Given the description of an element on the screen output the (x, y) to click on. 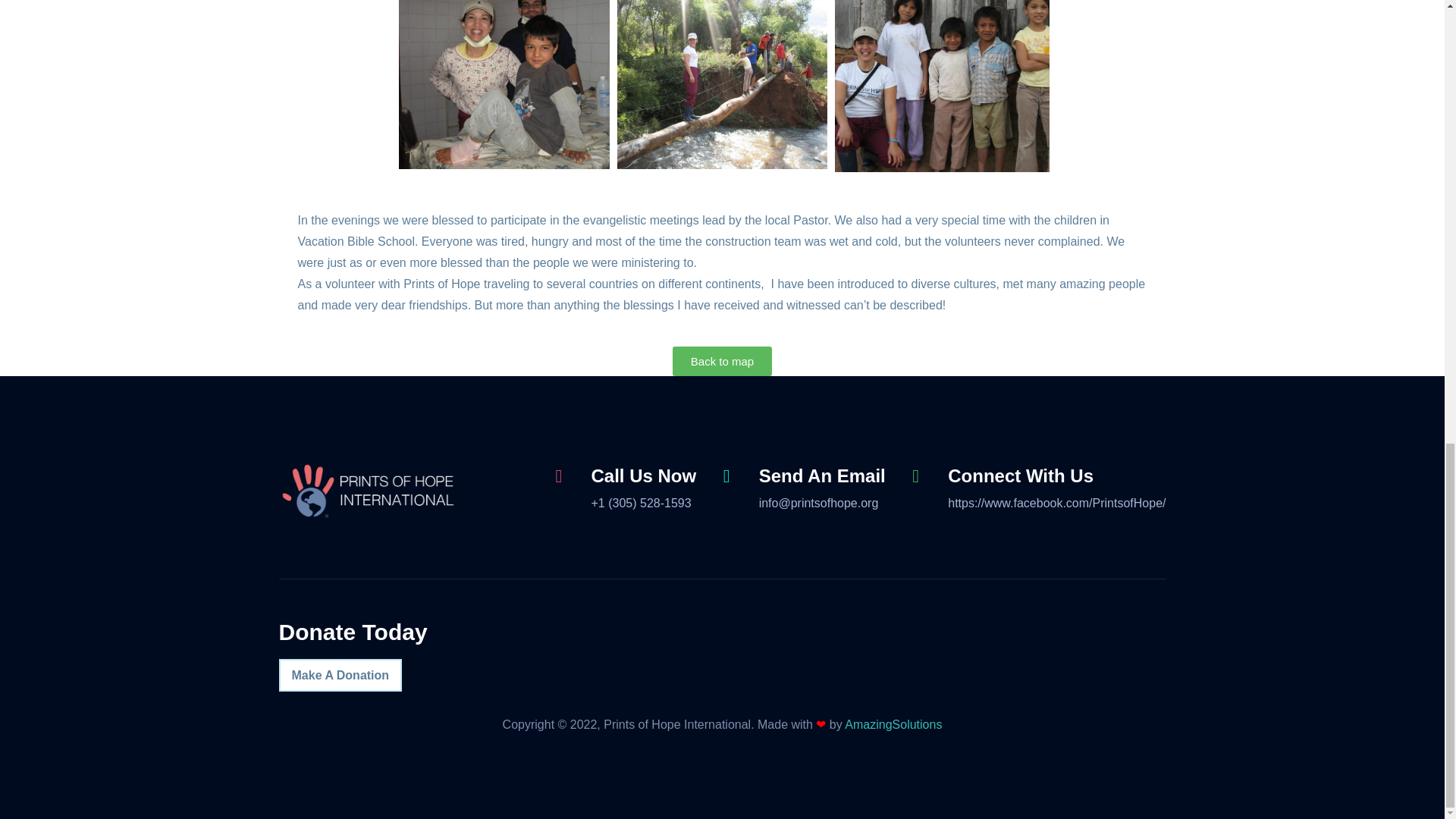
Back to map (721, 360)
